Given the description of an element on the screen output the (x, y) to click on. 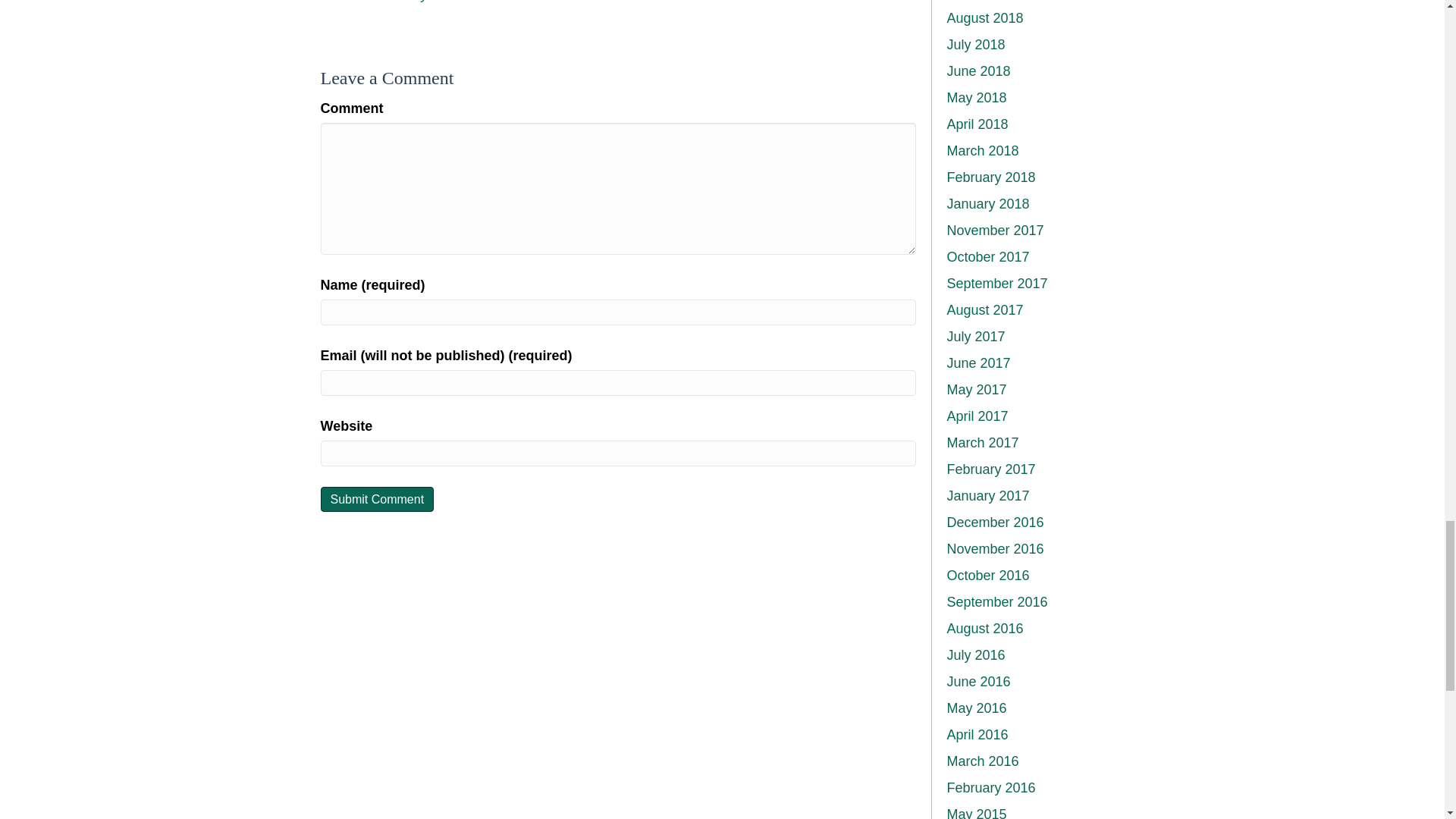
Submit Comment (376, 498)
Mini Myths (413, 1)
Submit Comment (376, 498)
